Given the description of an element on the screen output the (x, y) to click on. 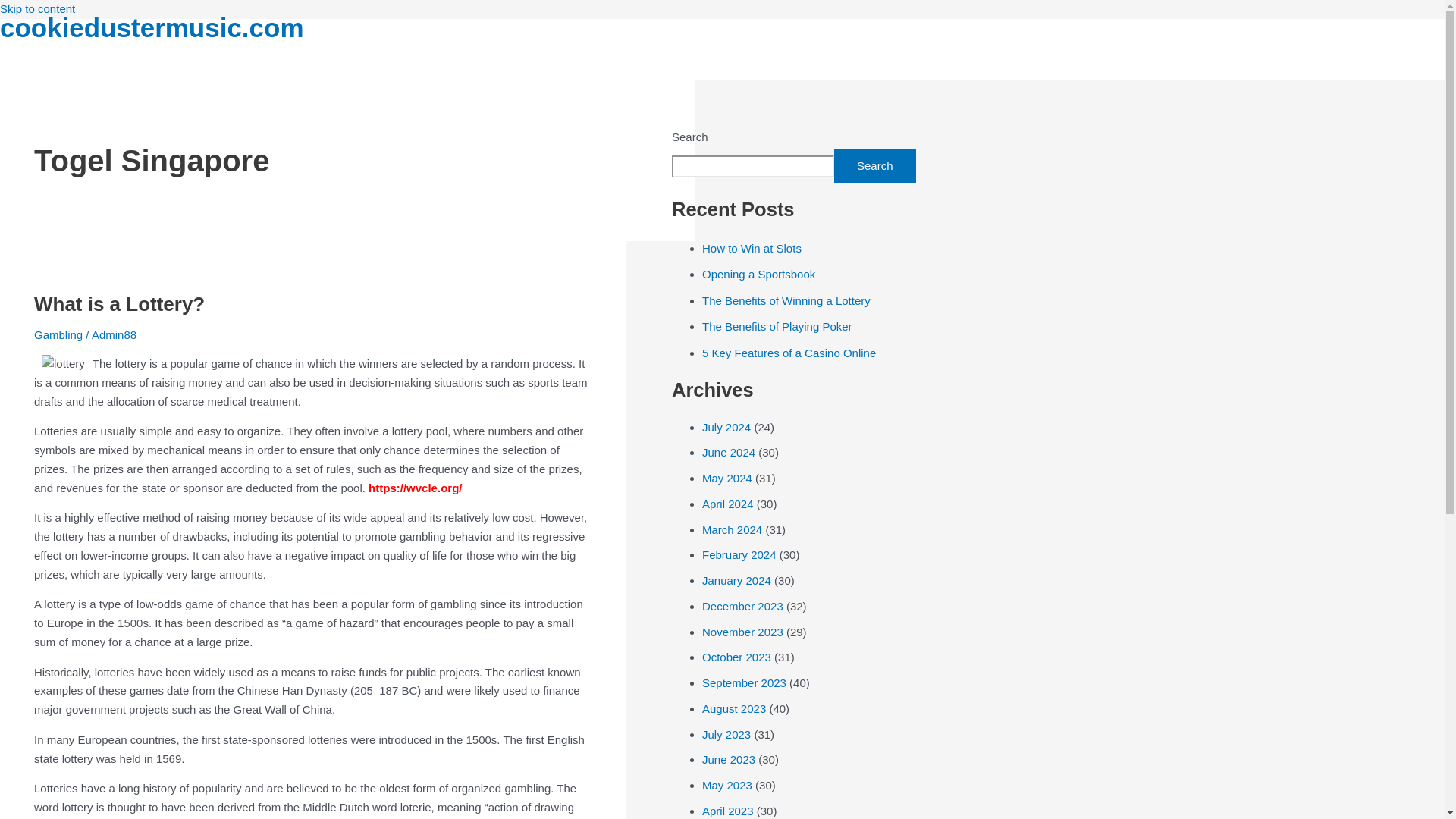
January 2024 (736, 580)
May 2023 (726, 784)
September 2023 (743, 682)
Search (874, 165)
5 Key Features of a Casino Online (788, 352)
The Benefits of Playing Poker (776, 326)
April 2023 (727, 810)
April 2024 (727, 503)
View all posts by Admin88 (113, 334)
June 2024 (728, 451)
The Benefits of Winning a Lottery (785, 300)
Gambling (57, 334)
Admin88 (113, 334)
Skip to content (37, 8)
March 2024 (731, 529)
